Given the description of an element on the screen output the (x, y) to click on. 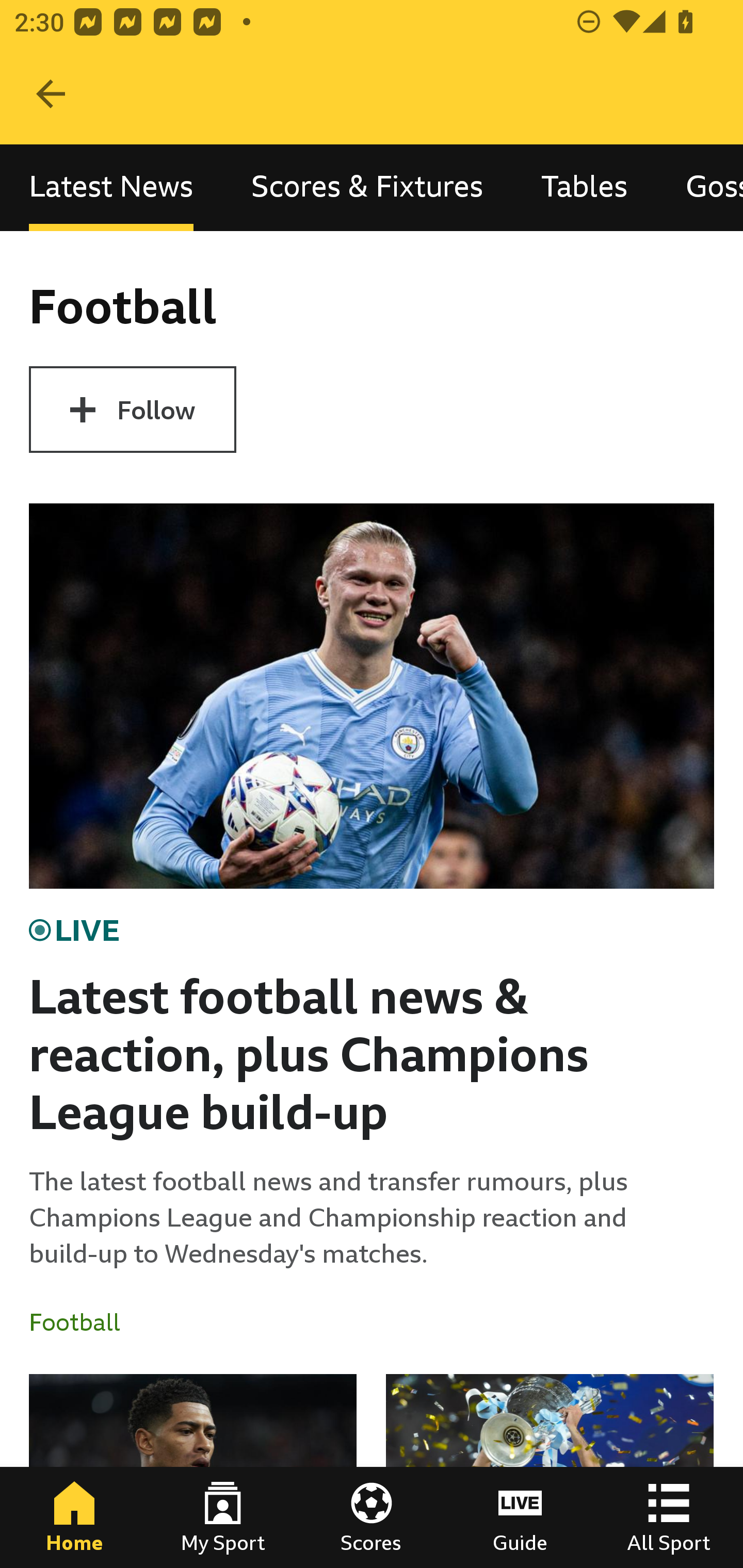
Navigate up (50, 93)
Latest News, selected Latest News (111, 187)
Scores & Fixtures (367, 187)
Tables (584, 187)
Gossip (699, 187)
Follow Football Follow (132, 409)
My Sport (222, 1517)
Scores (371, 1517)
Guide (519, 1517)
All Sport (668, 1517)
